Given the description of an element on the screen output the (x, y) to click on. 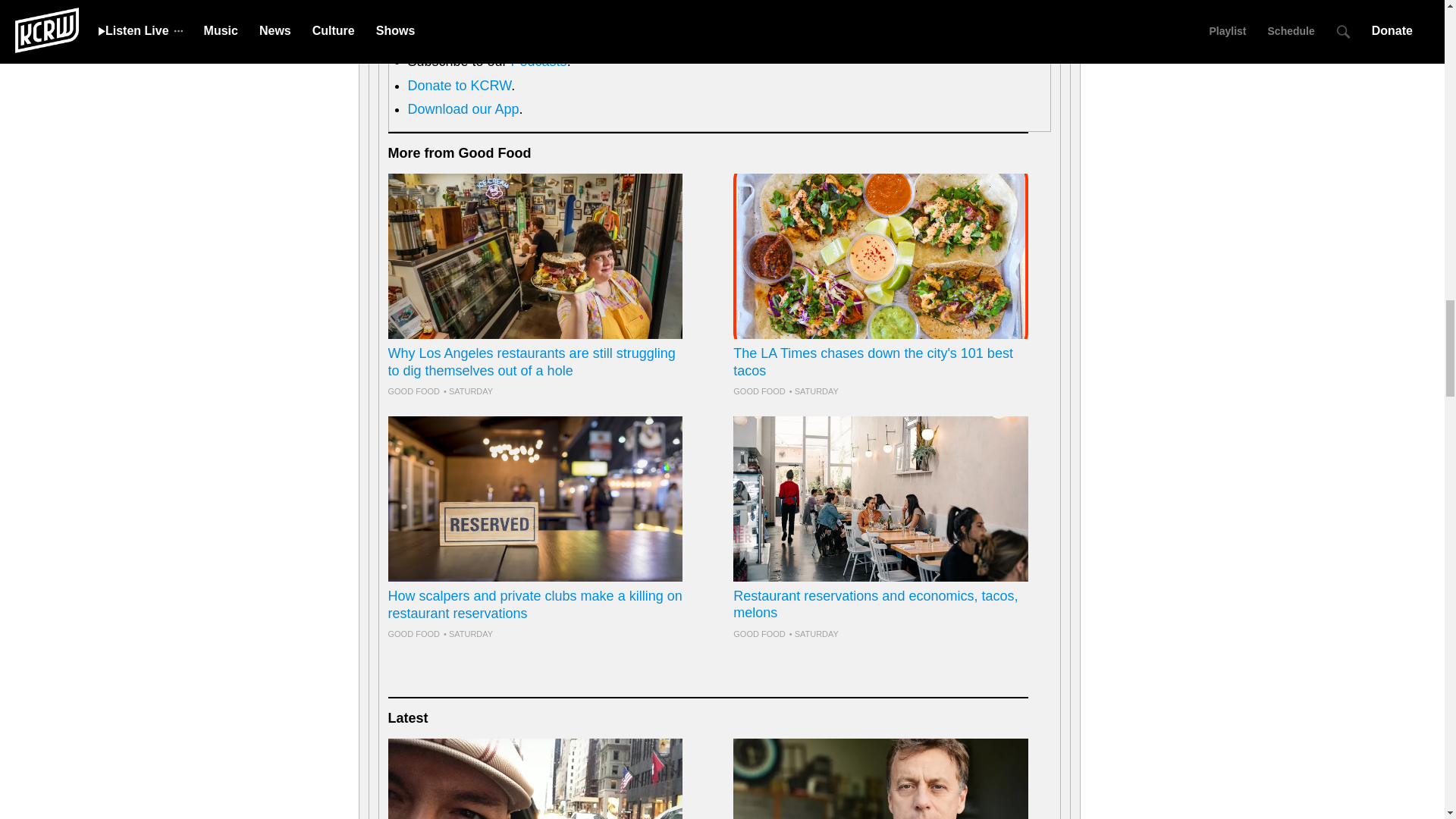
Saturday, August 10th 2024, 3:00 am (468, 390)
Saturday, August 10th 2024, 3:00 am (468, 633)
Download our App (463, 109)
KCRW member (520, 37)
Saturday, August 10th 2024, 3:00 am (813, 390)
Podcasts (539, 61)
Saturday, August 10th 2024, 3:00 am (813, 633)
Donate to KCRW (459, 85)
Sign-up for our newsletters (488, 13)
